Given the description of an element on the screen output the (x, y) to click on. 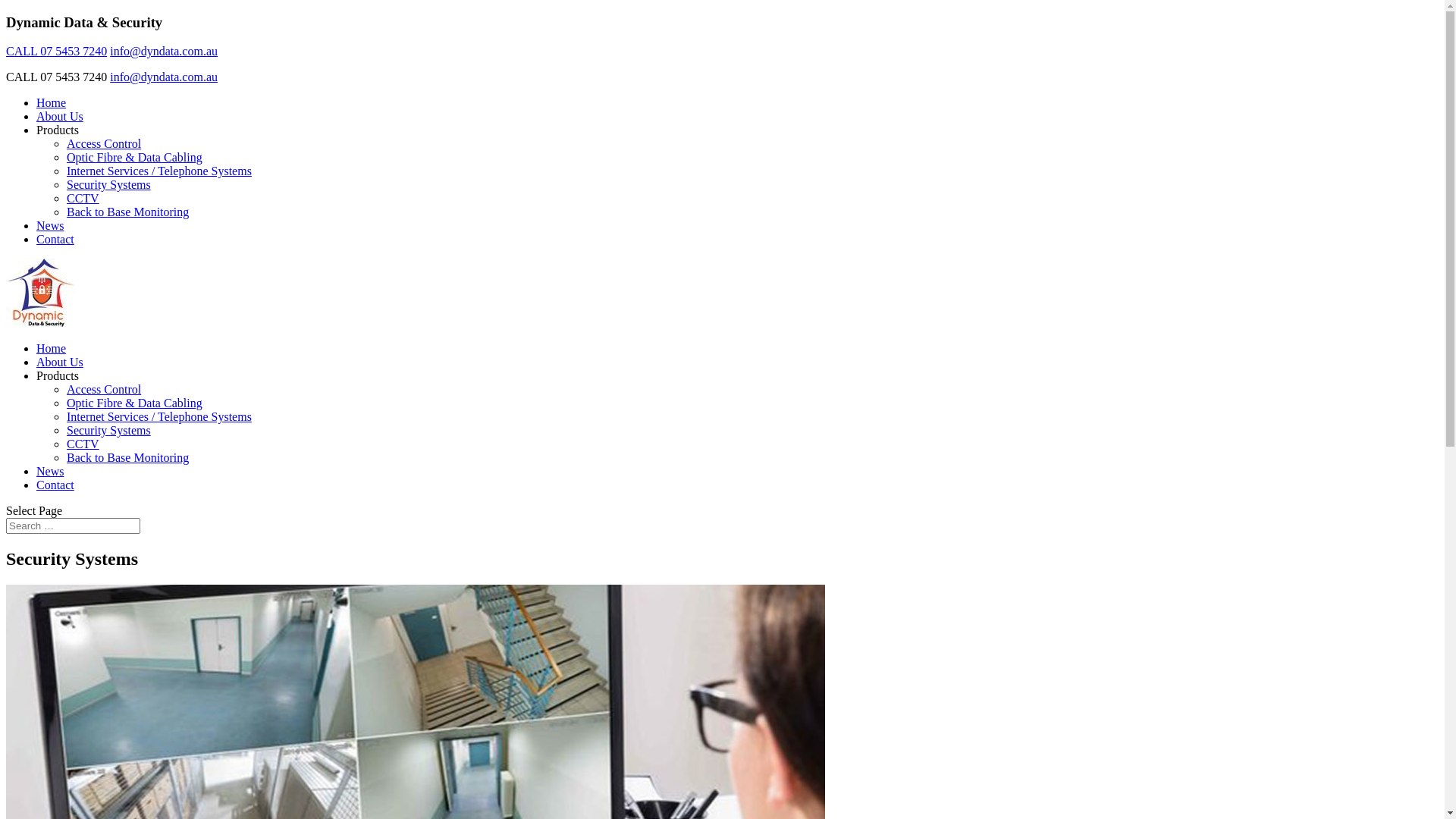
Internet Services / Telephone Systems Element type: text (158, 170)
info@dyndata.com.au Element type: text (163, 76)
Access Control Element type: text (103, 388)
Back to Base Monitoring Element type: text (127, 457)
Optic Fibre & Data Cabling Element type: text (134, 156)
News Element type: text (49, 470)
Internet Services / Telephone Systems Element type: text (158, 416)
Contact Element type: text (55, 238)
Home Element type: text (50, 348)
Search for: Element type: hover (73, 525)
Security Systems Element type: text (108, 184)
CCTV Element type: text (82, 443)
Back to Base Monitoring Element type: text (127, 211)
About Us Element type: text (59, 361)
Home Element type: text (50, 102)
info@dyndata.com.au Element type: text (163, 50)
Contact Element type: text (55, 484)
Access Control Element type: text (103, 143)
Products Element type: text (57, 375)
News Element type: text (49, 225)
Products Element type: text (57, 129)
CALL 07 5453 7240 Element type: text (56, 50)
Optic Fibre & Data Cabling Element type: text (134, 402)
About Us Element type: text (59, 115)
CCTV Element type: text (82, 197)
Security Systems Element type: text (108, 429)
